Given the description of an element on the screen output the (x, y) to click on. 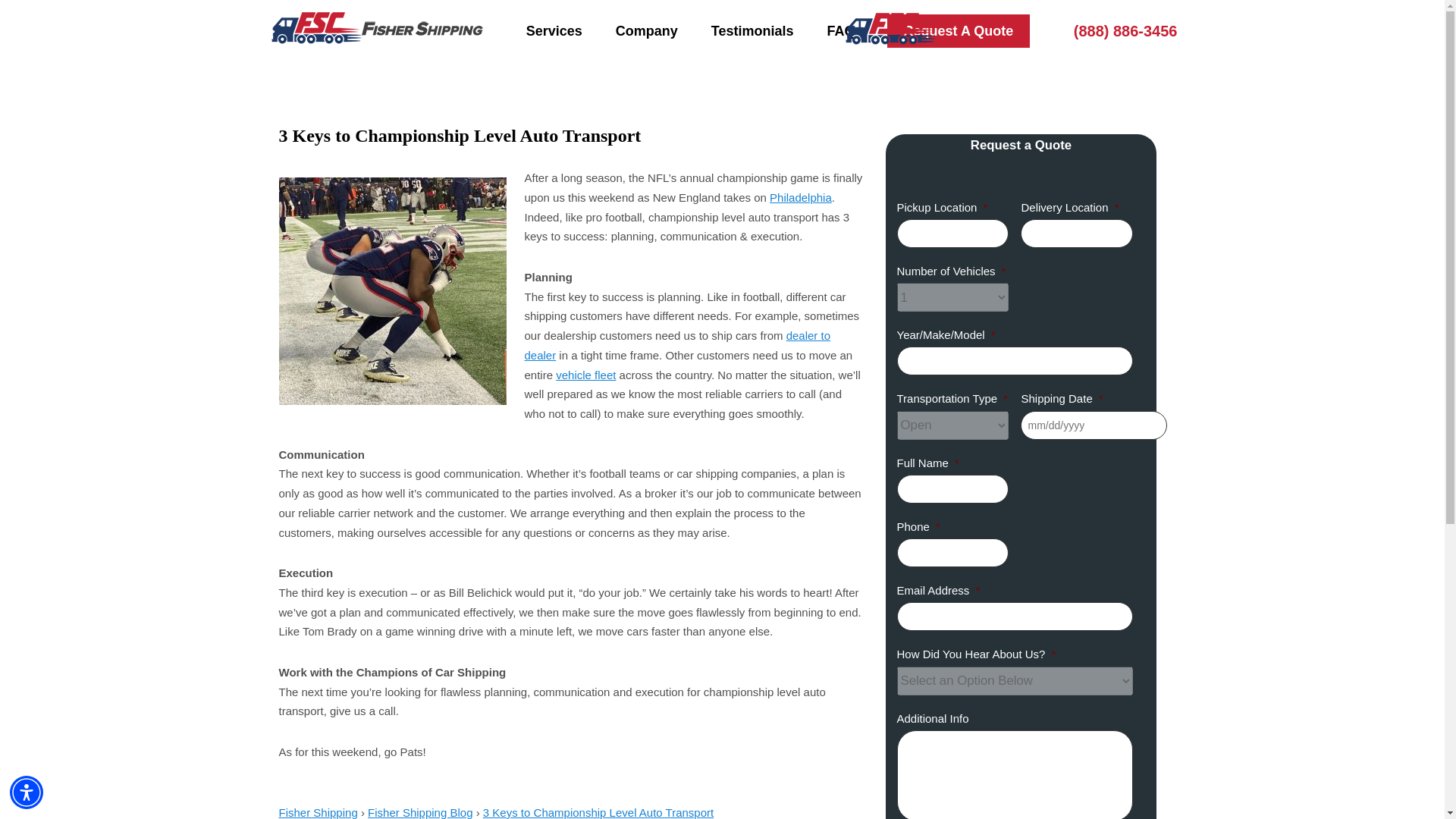
vehicle fleet (585, 374)
Company (646, 31)
Accessibility Menu (26, 792)
Request A Quote (958, 30)
Testimonials (752, 31)
dealer to dealer (677, 345)
3 Keys to Championship Level Auto Transport (598, 812)
Fisher Shipping (890, 47)
Fisher Shipping Blog (419, 812)
FAQ (841, 31)
Services (553, 31)
Fisher Shipping (318, 812)
Philadelphia (782, 31)
Fisher Shipping (800, 196)
